Given the description of an element on the screen output the (x, y) to click on. 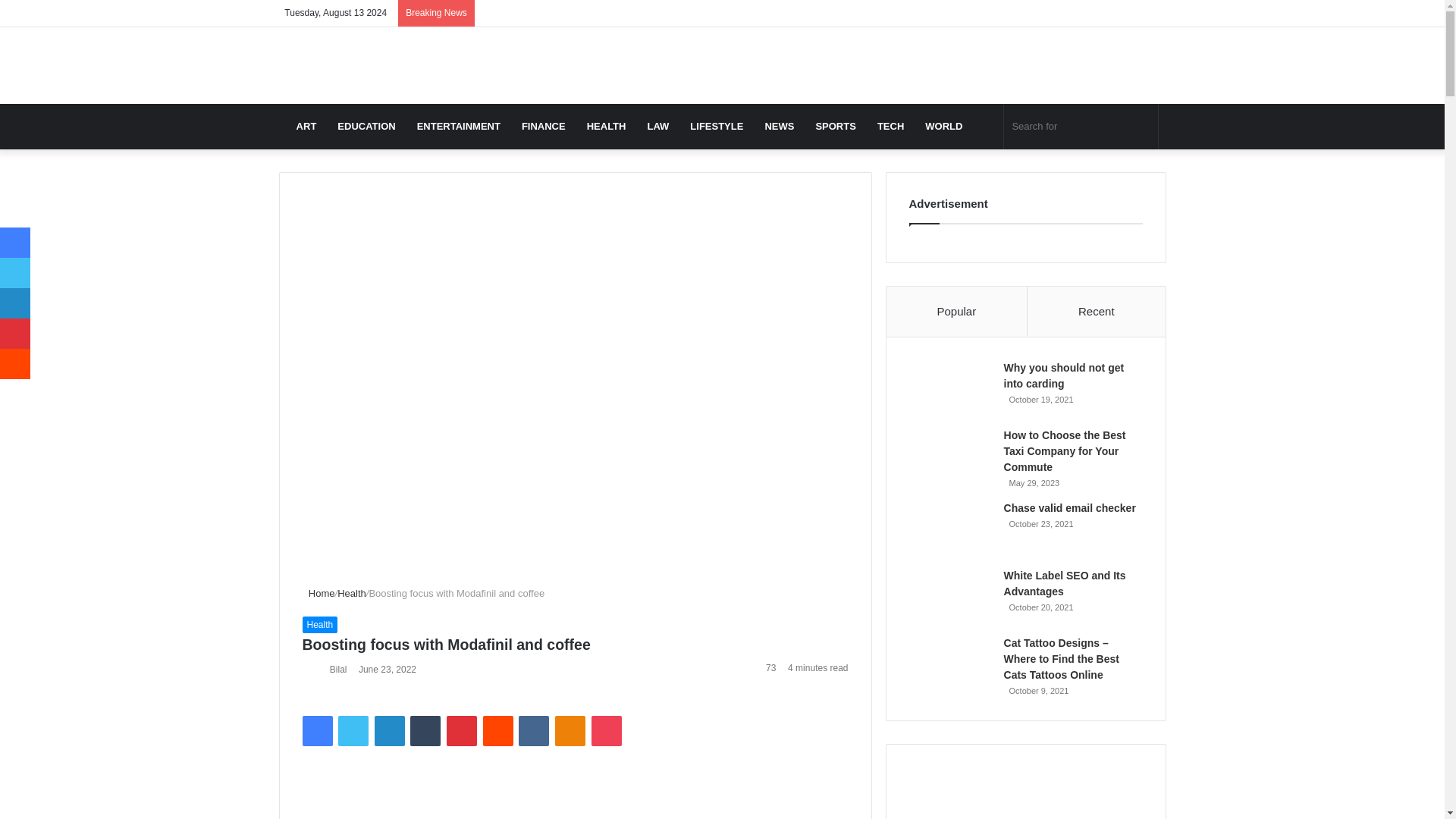
LIFESTYLE (716, 126)
NEWS (779, 126)
Twitter (352, 730)
Twitter (352, 730)
Reddit (498, 730)
Health (319, 624)
ART (306, 126)
SPORTS (835, 126)
WORLD (943, 126)
Facebook (316, 730)
